Given the description of an element on the screen output the (x, y) to click on. 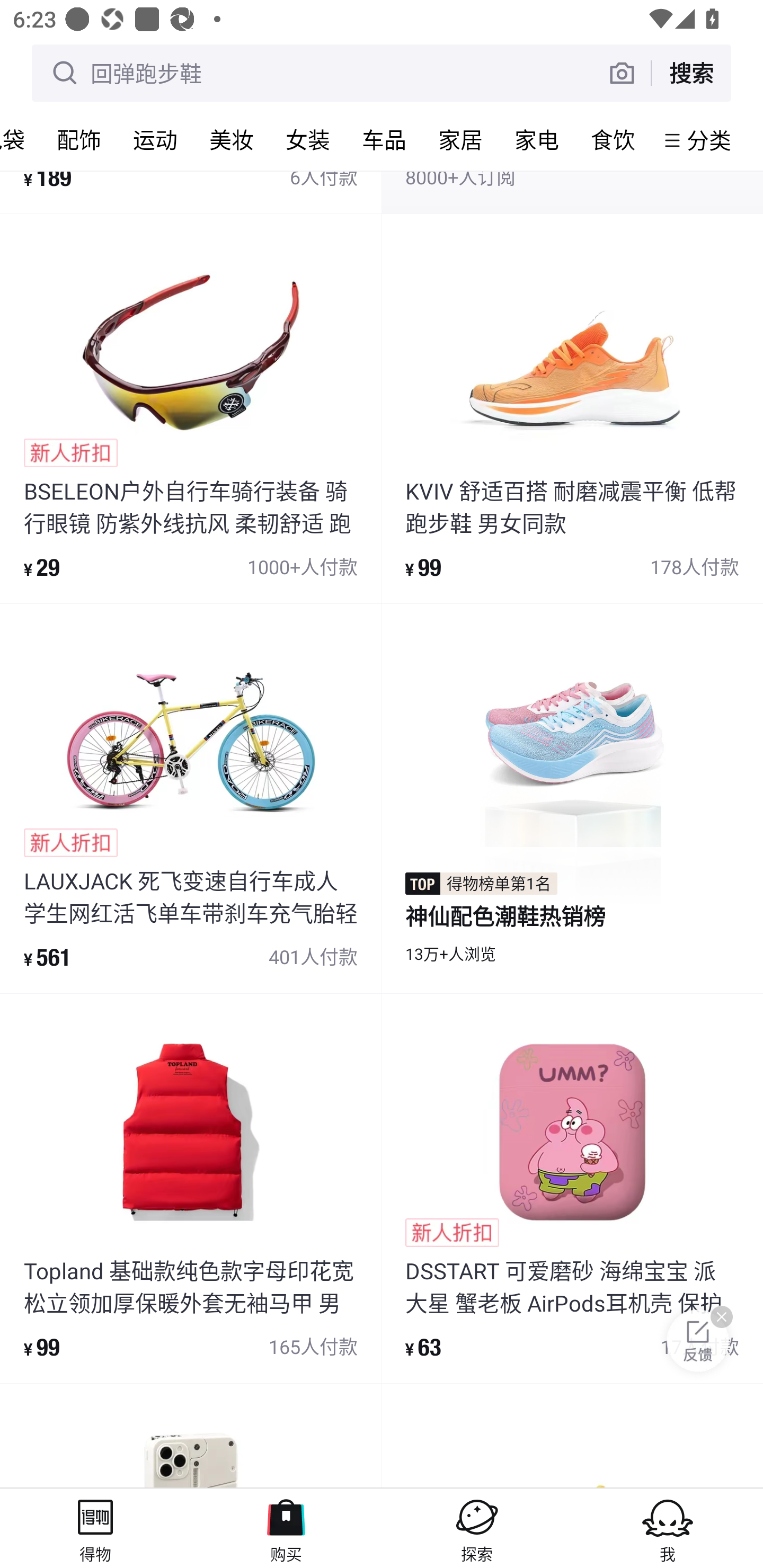
搜索 (690, 72)
配饰 (78, 139)
运动 (154, 139)
美妆 (231, 139)
女装 (307, 139)
车品 (383, 139)
家居 (459, 139)
家电 (536, 139)
食饮 (612, 139)
分类 (708, 139)
得物榜单第1名 神仙配色潮鞋热销榜 13万+人浏览 (572, 797)
得物 (95, 1528)
购买 (285, 1528)
探索 (476, 1528)
我 (667, 1528)
